Given the description of an element on the screen output the (x, y) to click on. 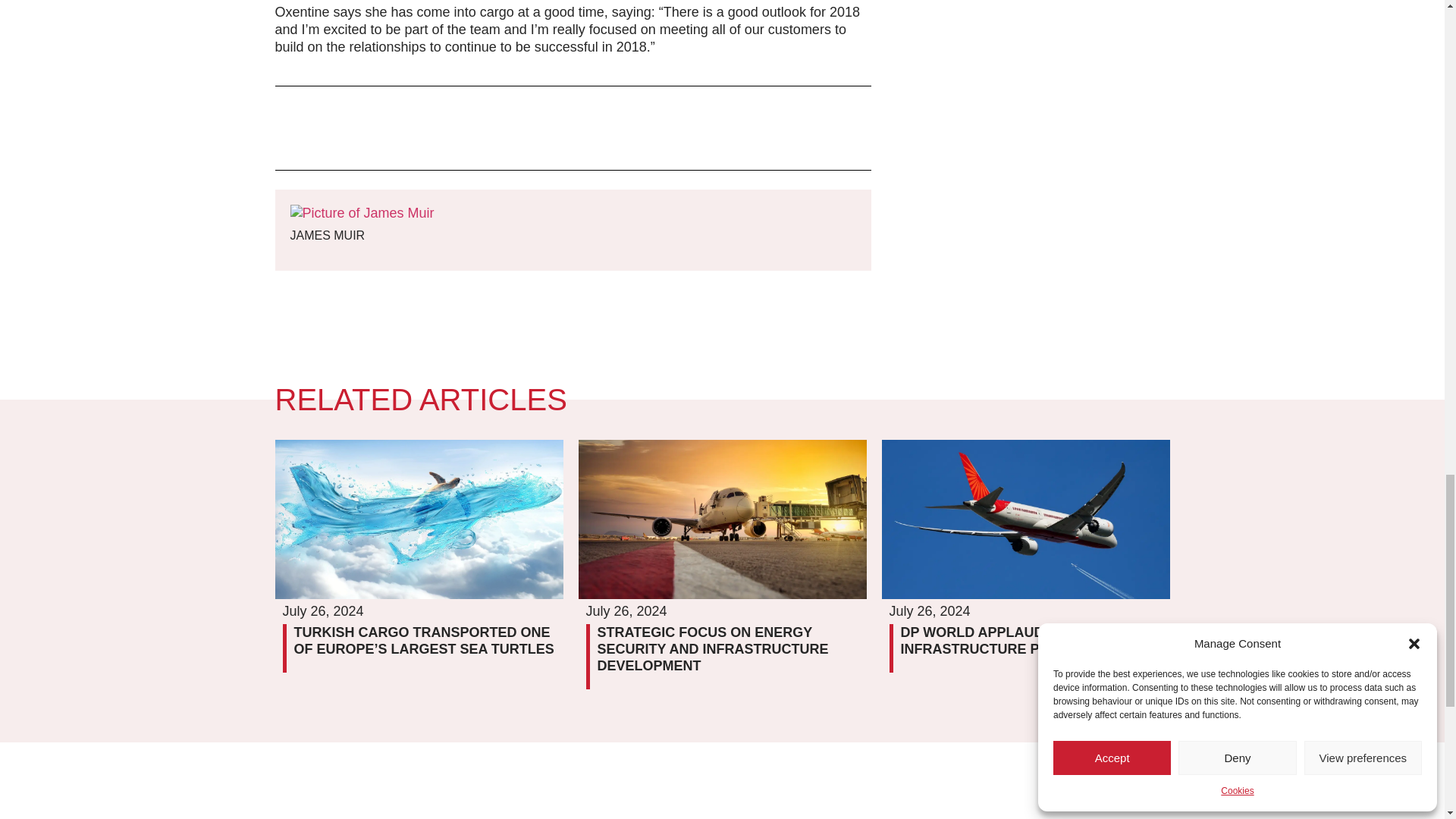
JAMES MUIR (361, 235)
